Given the description of an element on the screen output the (x, y) to click on. 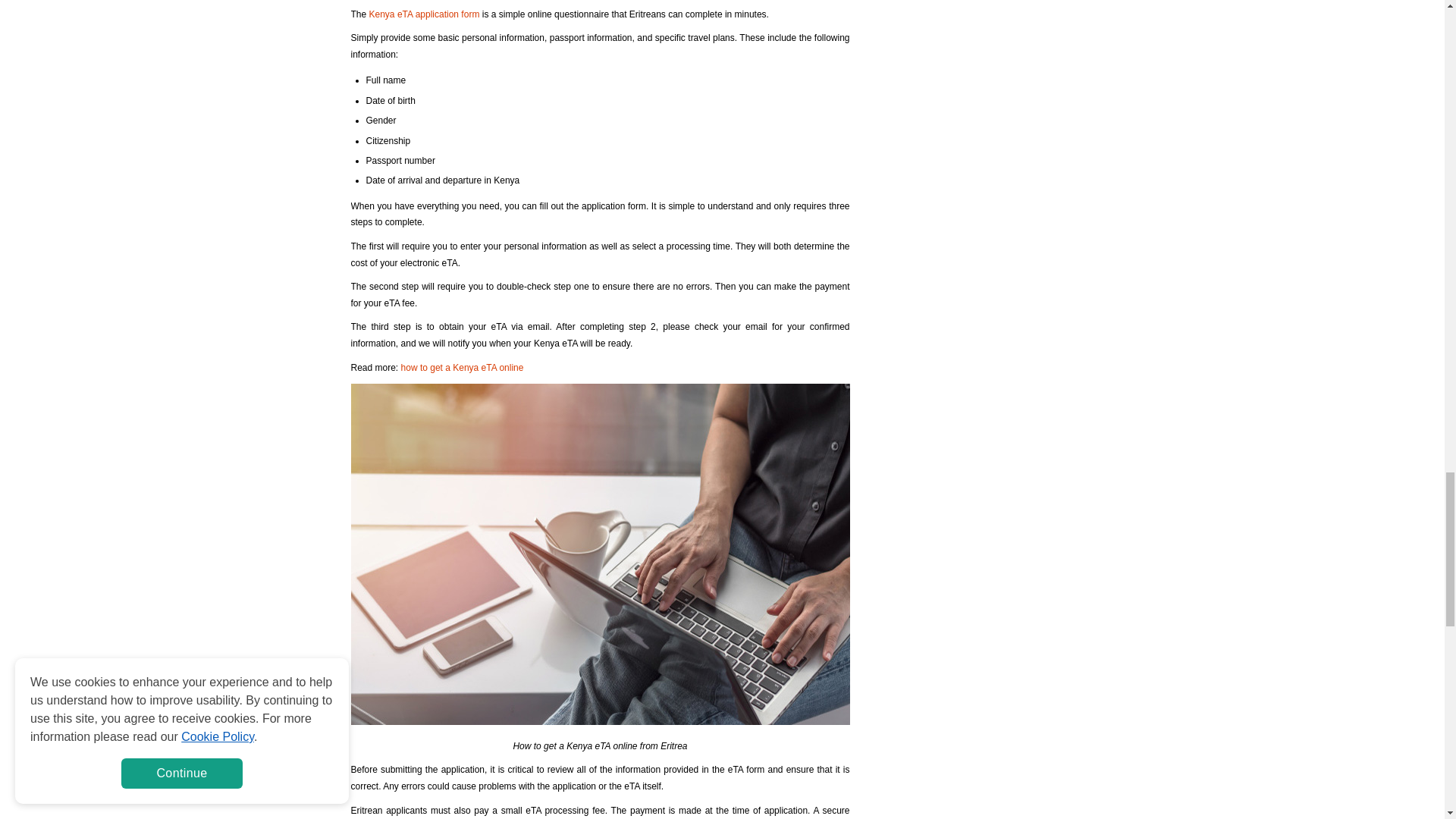
Kenya eTA application form (424, 14)
how to get a Kenya eTA online (462, 367)
